Given the description of an element on the screen output the (x, y) to click on. 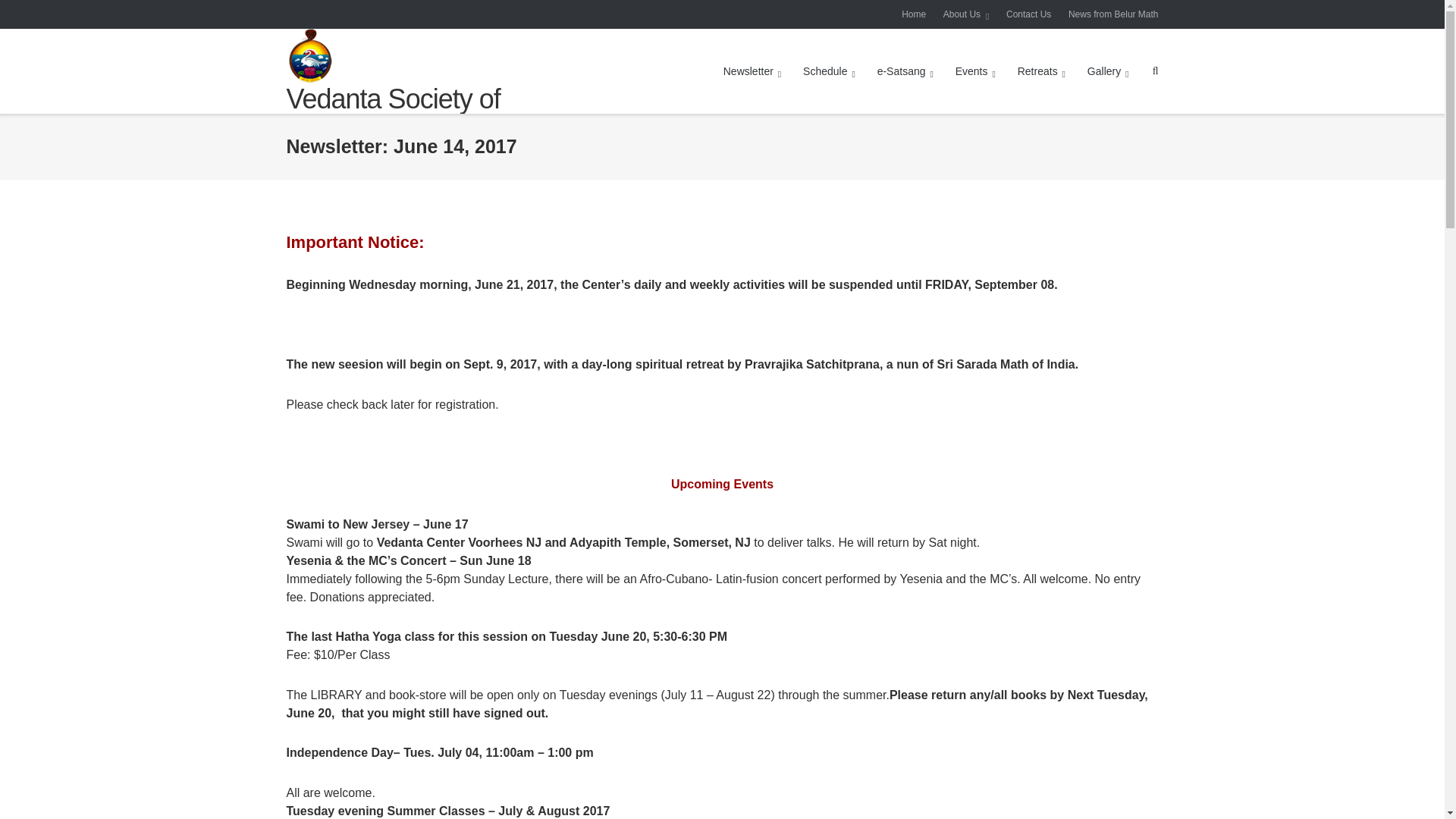
About Us (966, 14)
Contact Us (1028, 14)
News from Belur Math (1113, 14)
Vedanta Society of Providence (424, 115)
